Given the description of an element on the screen output the (x, y) to click on. 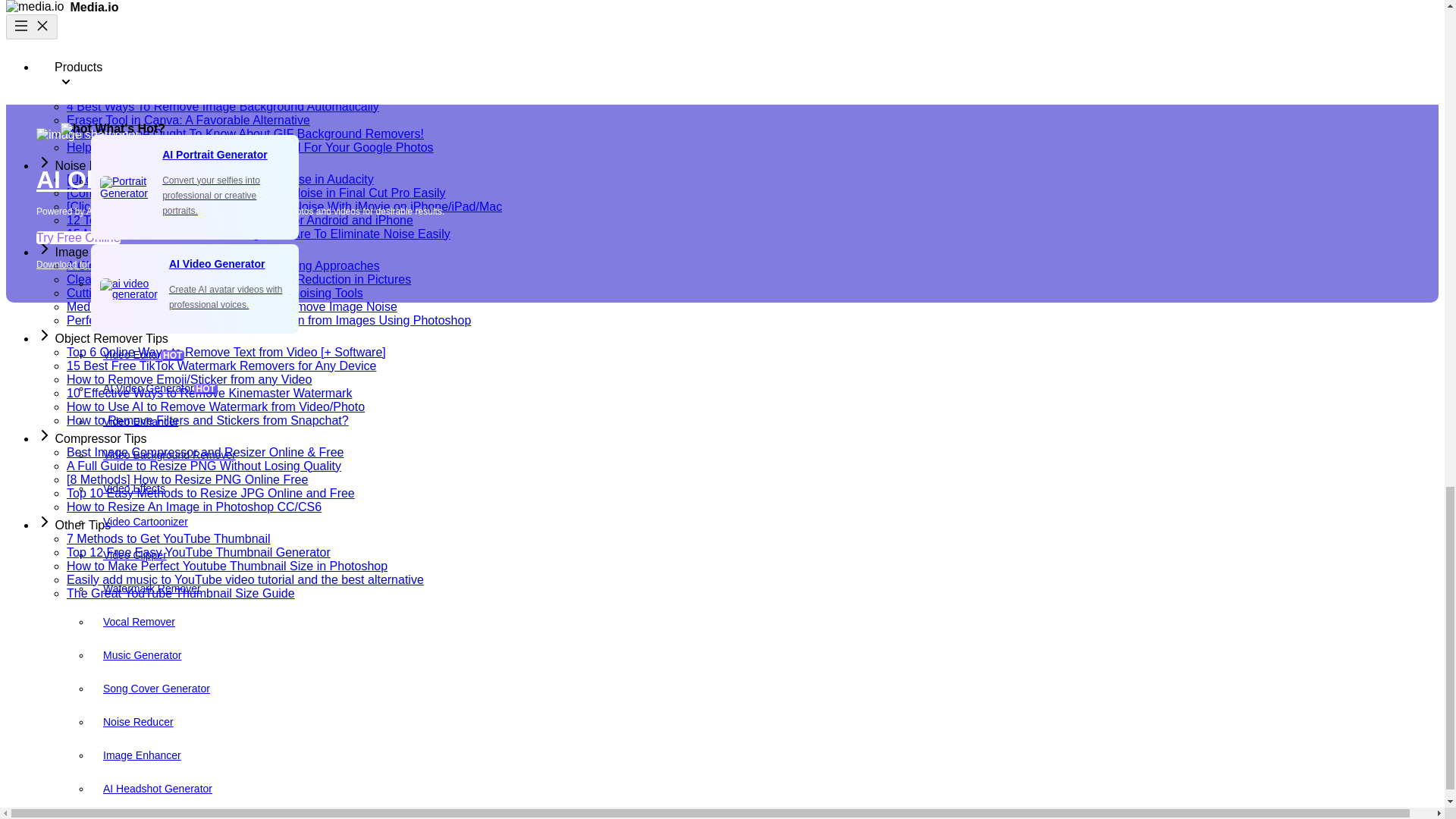
Image Compressor (232, 330)
Portrait Generator (232, 30)
Image Sharpener (232, 163)
Image Converter (232, 296)
Background Changer (232, 96)
Emoji Remover (232, 397)
Image Upscaler (232, 130)
Face Editor (232, 263)
Photo Colorizer (232, 196)
Screen Recorder (232, 430)
Passport Photo Maker (232, 63)
Portrait Retoucher (232, 230)
